Given the description of an element on the screen output the (x, y) to click on. 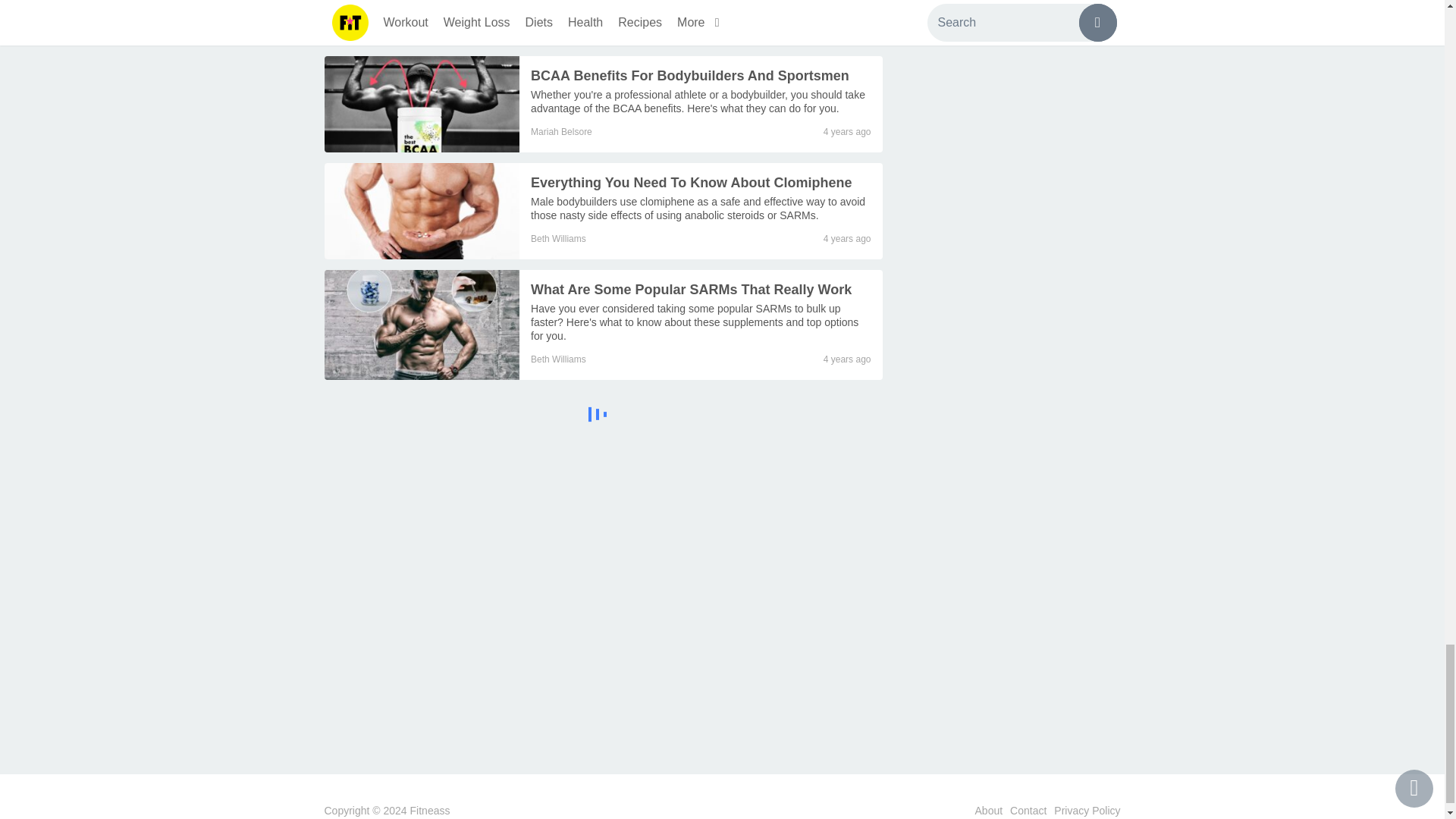
Searching for more related posts... (603, 416)
Searching for more related posts... (597, 413)
